Given the description of an element on the screen output the (x, y) to click on. 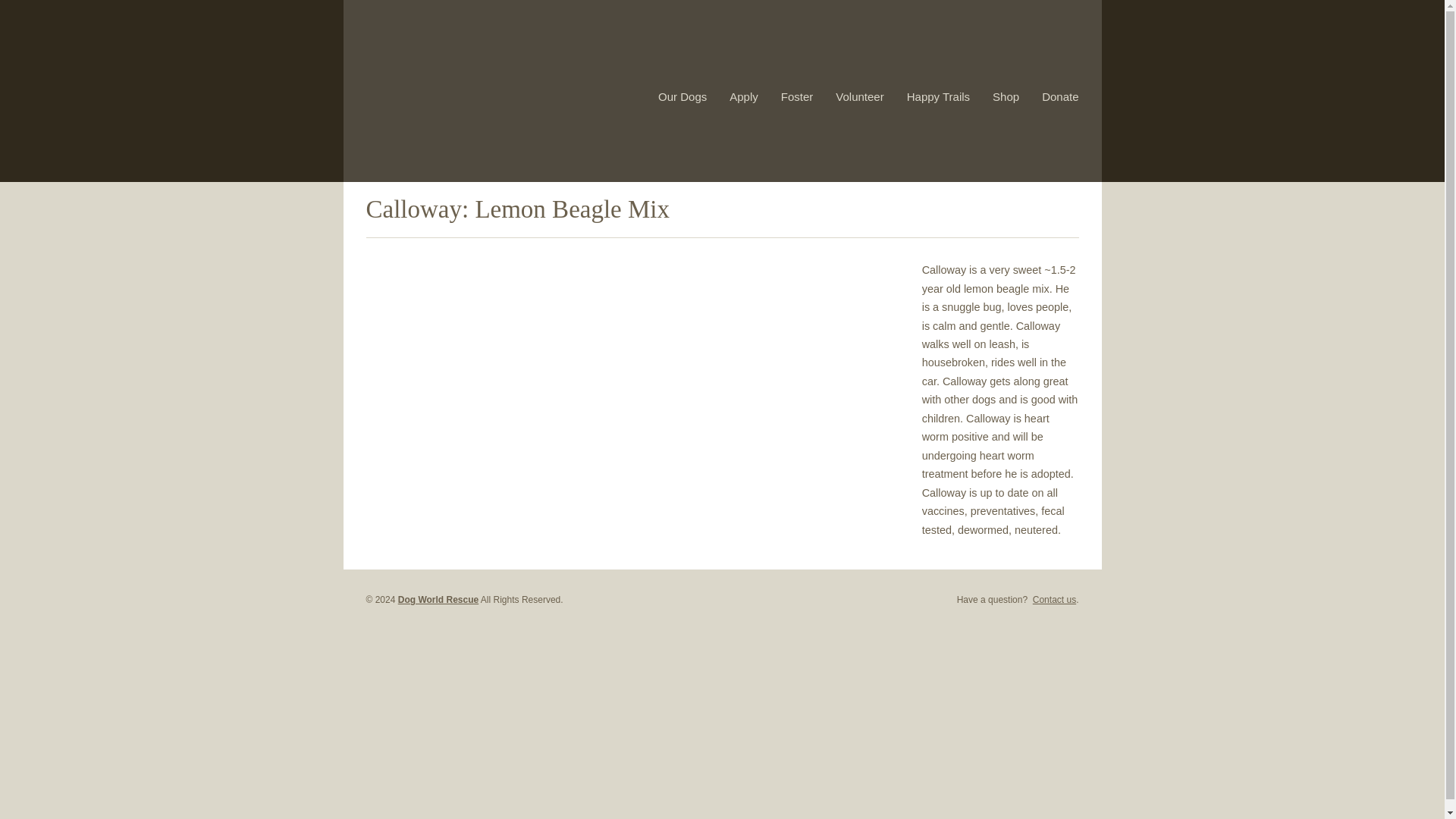
Donate (1060, 96)
1 (1052, 200)
Happy Trails (938, 96)
Apply (743, 96)
Volunteer (859, 96)
1 (1070, 200)
Contact us (1053, 599)
Shop (1005, 96)
Dog World Rescue (438, 599)
Foster (796, 96)
